Given the description of an element on the screen output the (x, y) to click on. 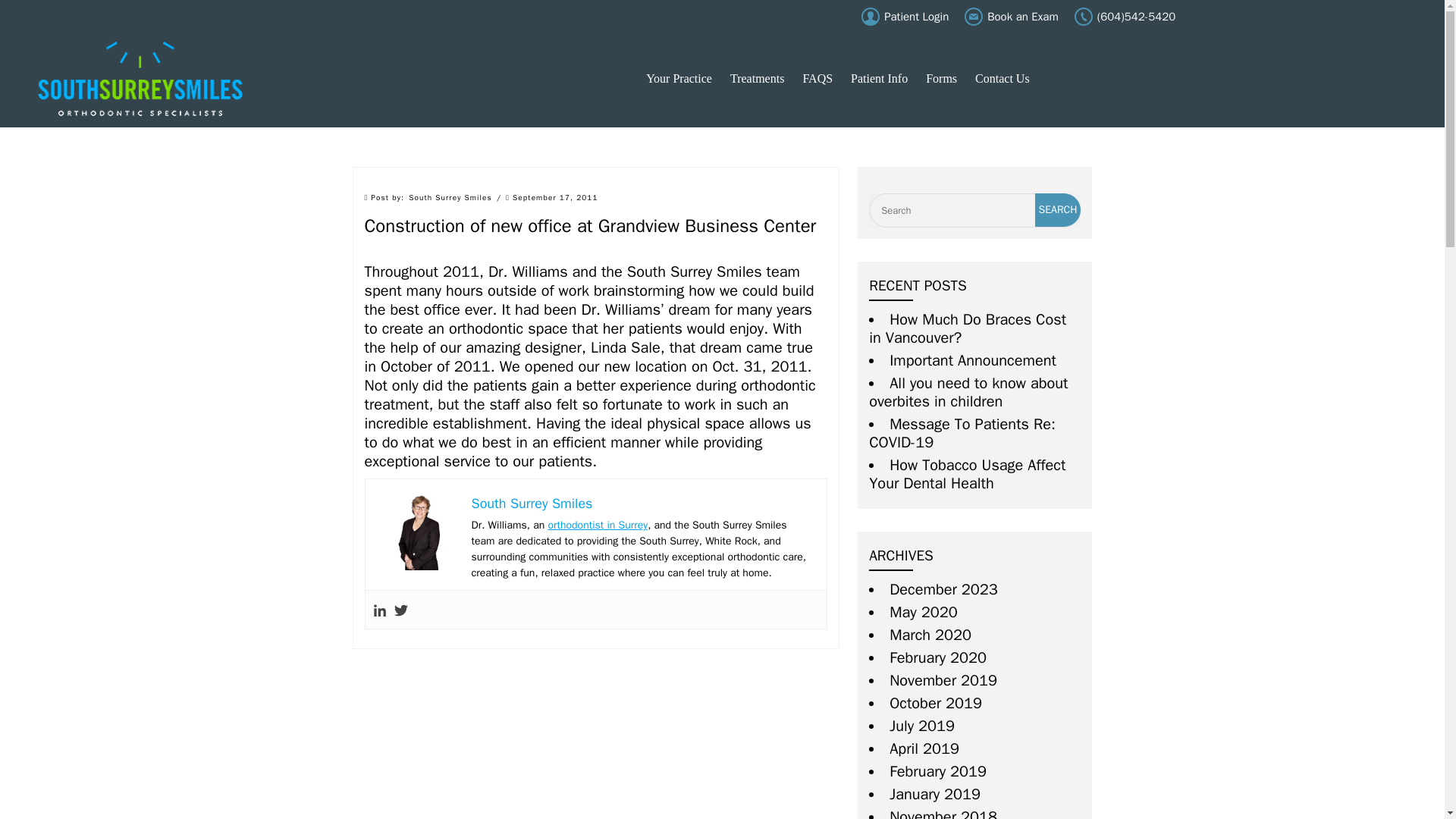
Search (1058, 209)
Posts by South Surrey Smiles (450, 197)
Book an Exam (1010, 16)
Linkedin (379, 609)
South Surrey Smiles (140, 78)
Twitter (400, 609)
Patient Login (905, 16)
